Given the description of an element on the screen output the (x, y) to click on. 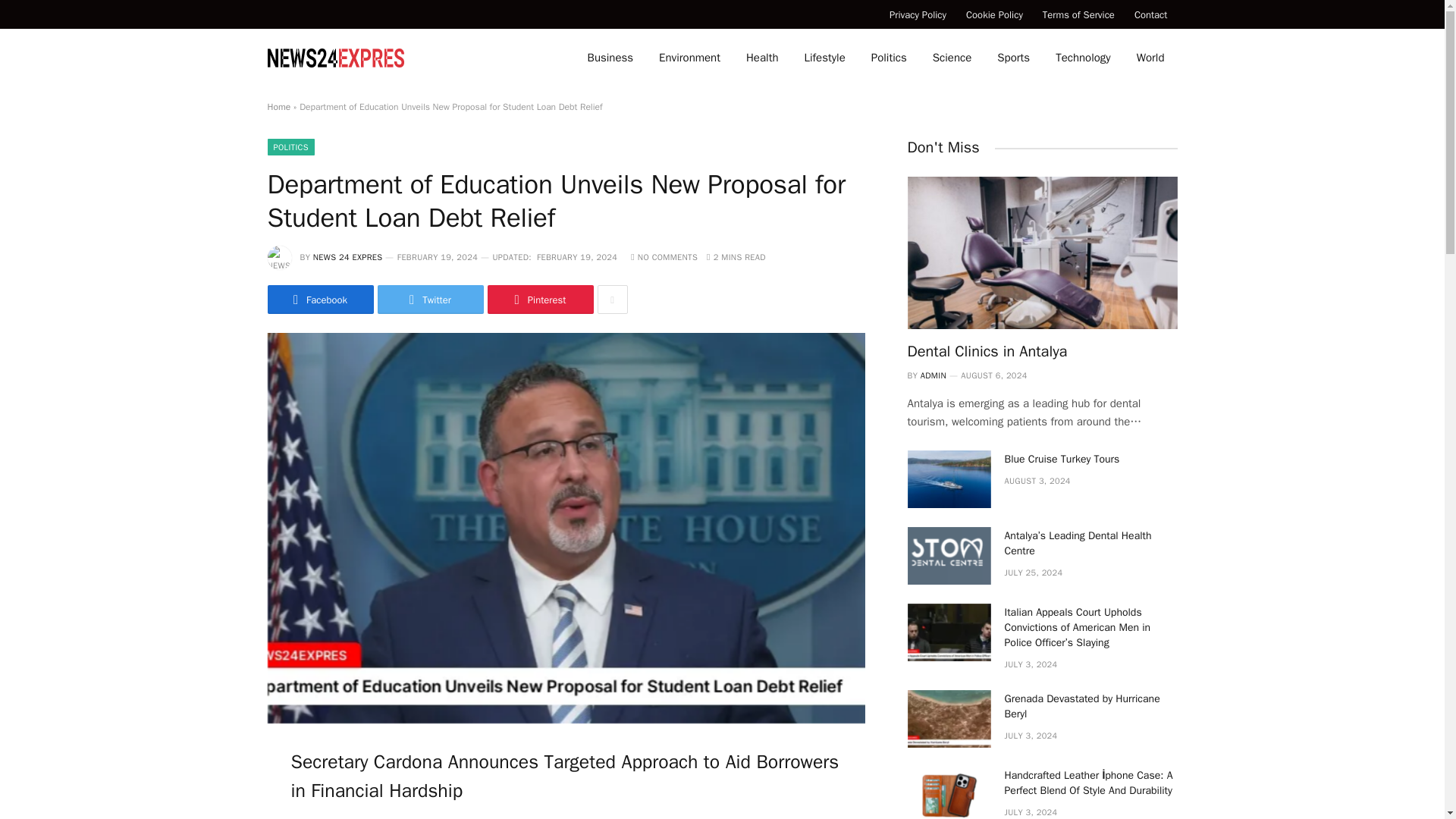
POLITICS (290, 146)
Environment (689, 57)
Share on Pinterest (539, 299)
News24Expres (334, 57)
Sports (1013, 57)
Posts by News 24 Expres (347, 256)
Health (762, 57)
Lifestyle (825, 57)
World (1150, 57)
Privacy Policy (917, 14)
